Given the description of an element on the screen output the (x, y) to click on. 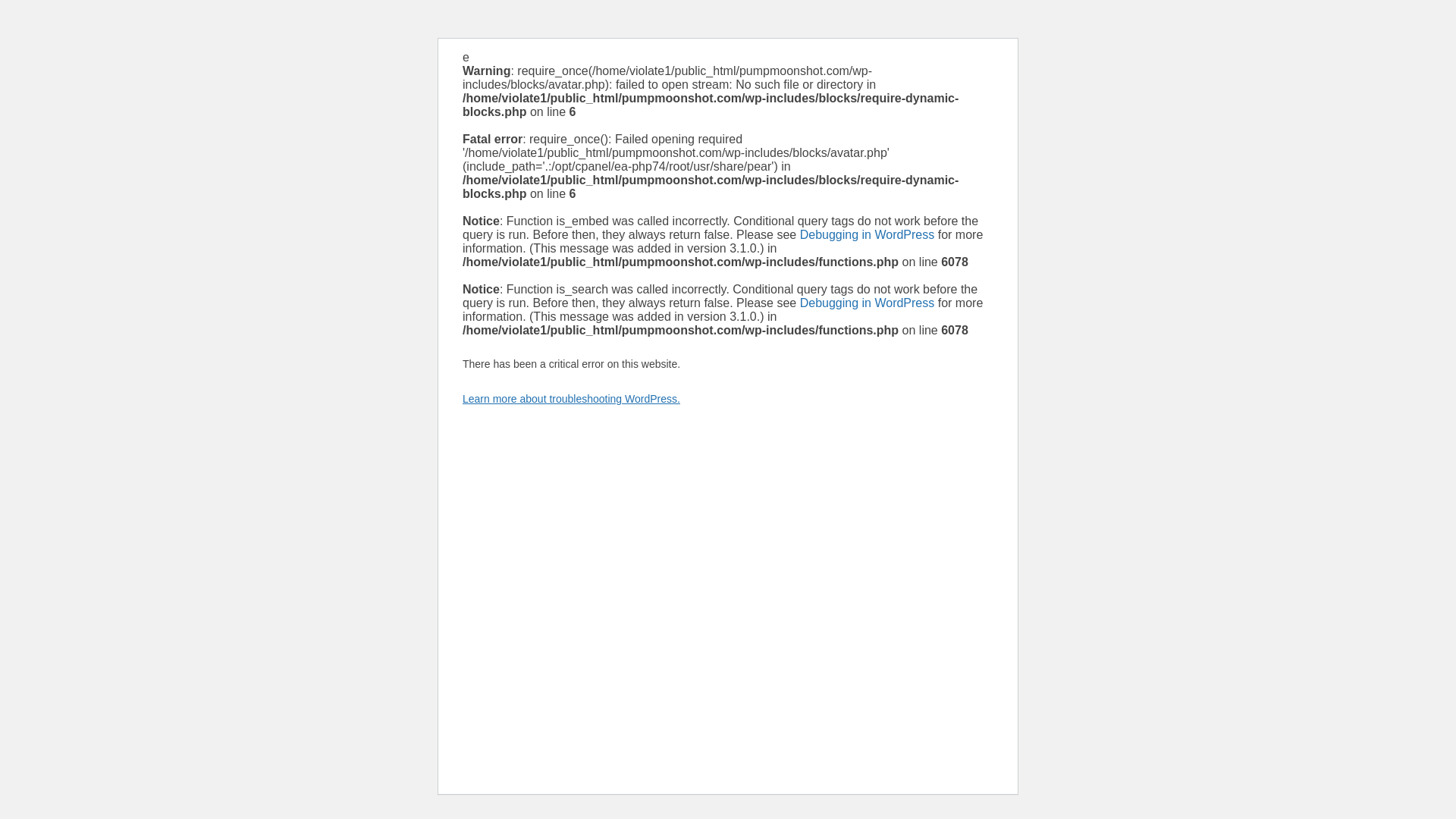
Debugging in WordPress (866, 234)
Learn more about troubleshooting WordPress. (571, 398)
Debugging in WordPress (866, 302)
